Given the description of an element on the screen output the (x, y) to click on. 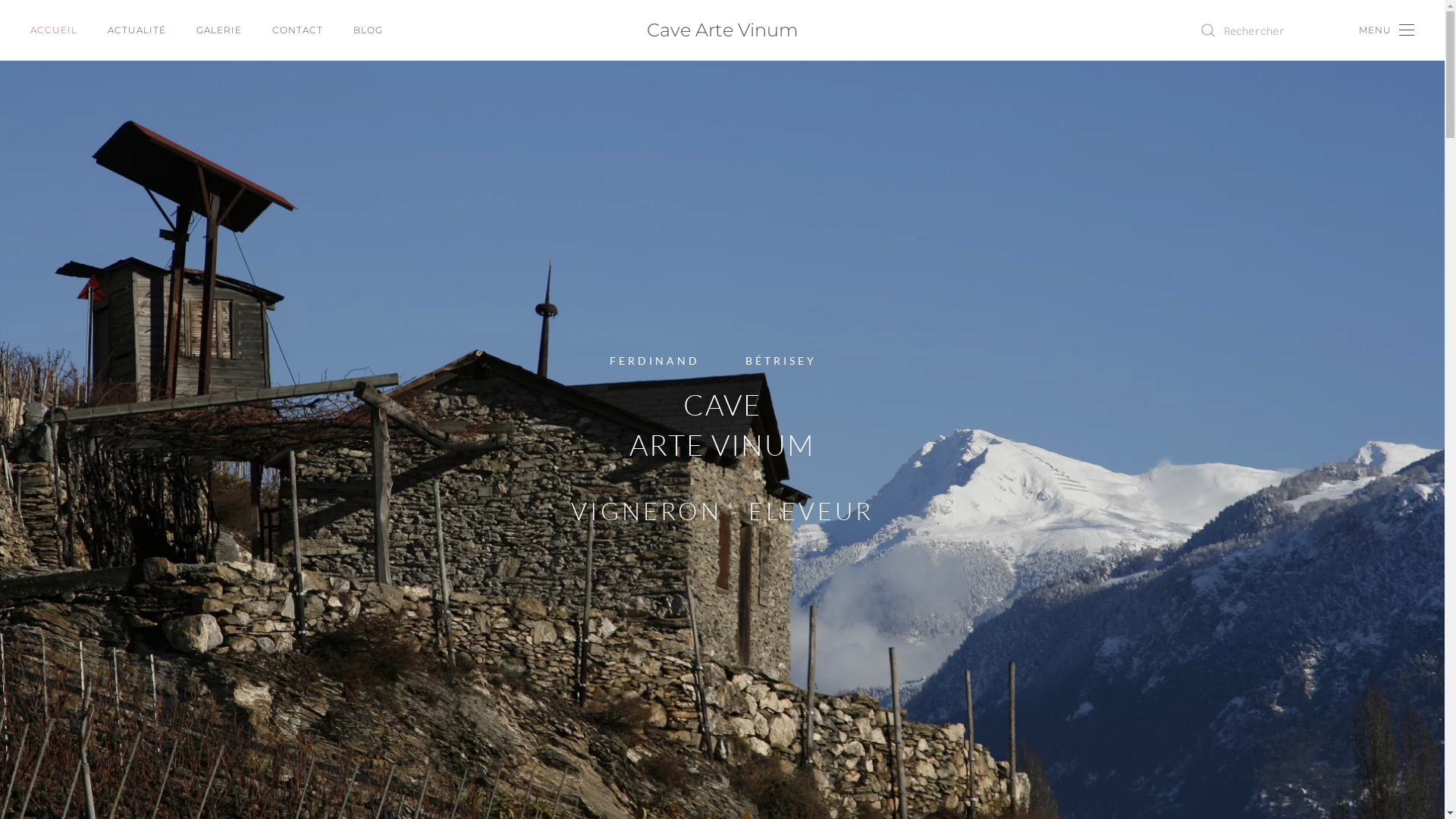
Cave Arte Vinum Element type: text (721, 30)
BLOG Element type: text (368, 30)
GALERIE Element type: text (219, 30)
CONTACT Element type: text (297, 30)
ACCUEIL Element type: text (53, 30)
